Given the description of an element on the screen output the (x, y) to click on. 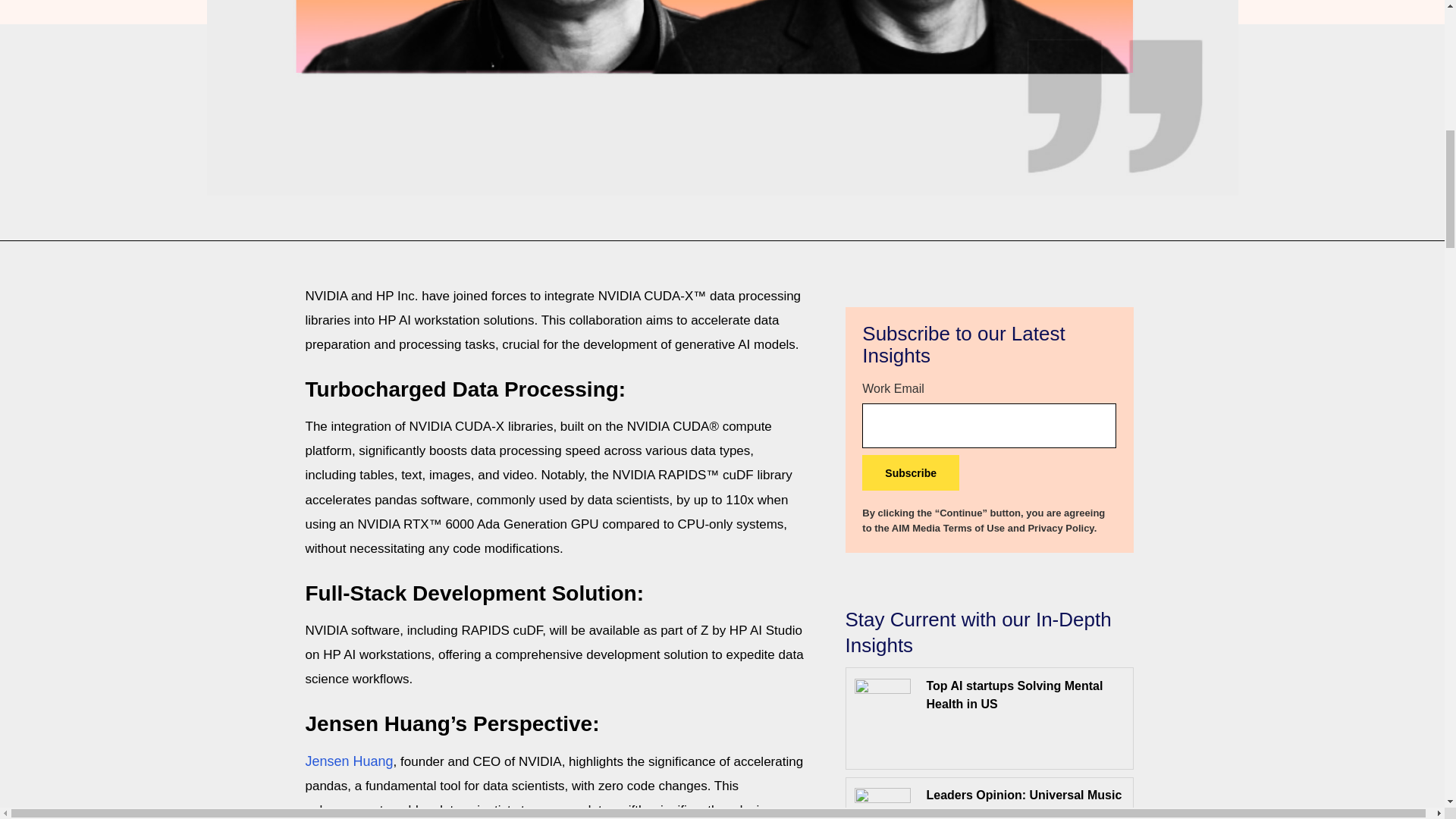
Jensen Huang (348, 761)
Top AI startups Solving Mental Health in US (1014, 694)
Subscribe (910, 472)
